Given the description of an element on the screen output the (x, y) to click on. 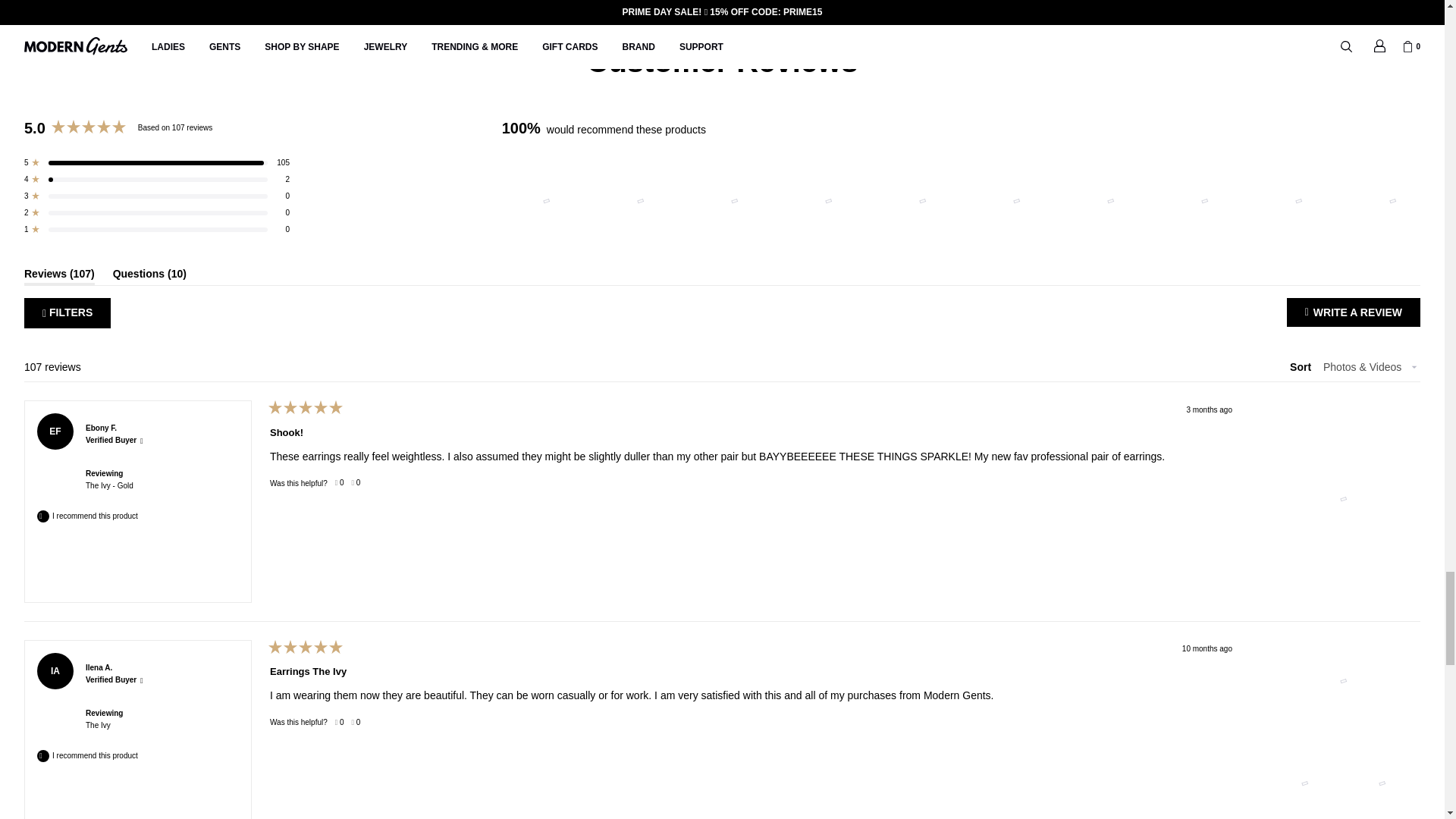
from United States (126, 422)
from United States (121, 662)
